Given the description of an element on the screen output the (x, y) to click on. 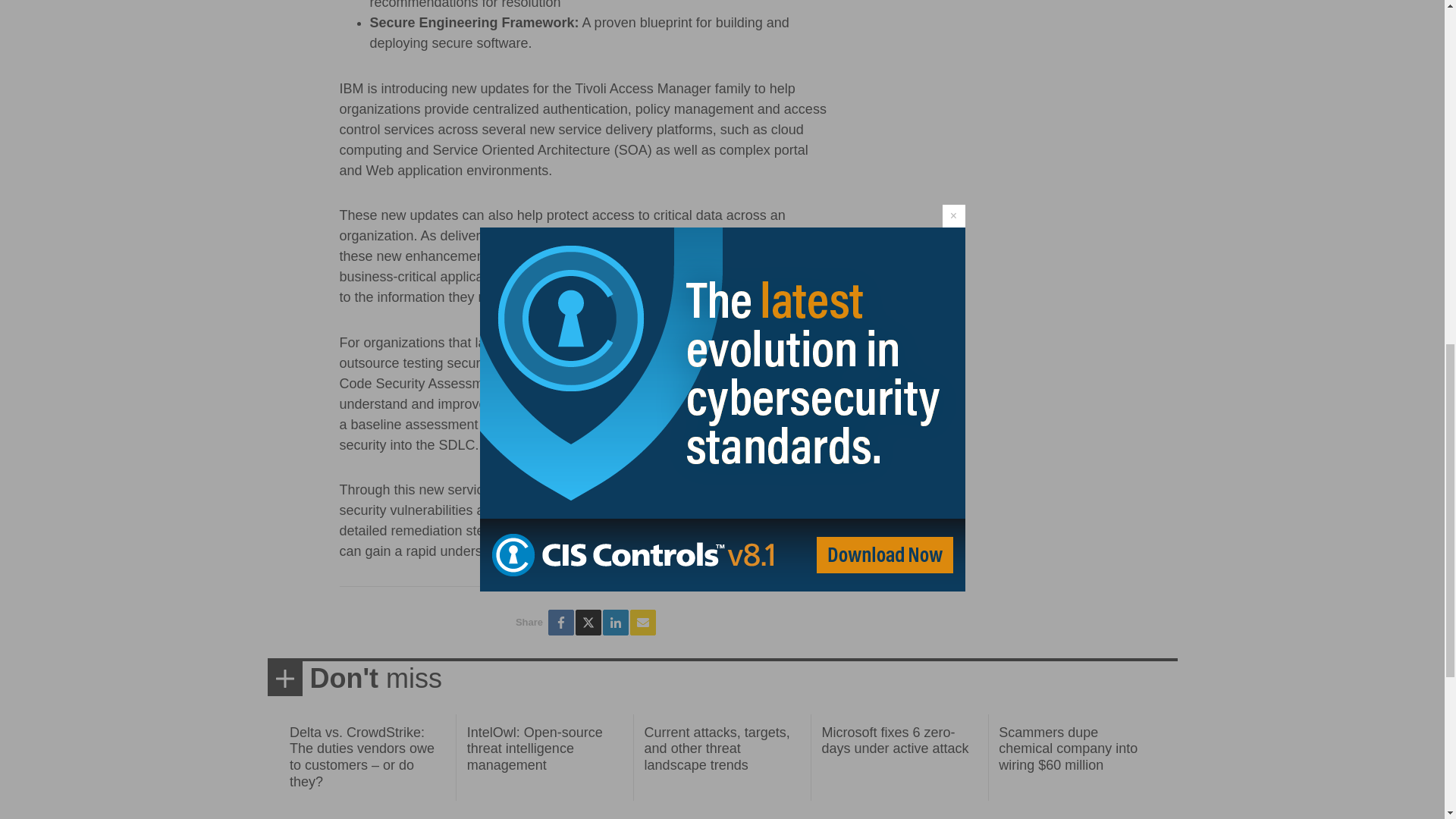
Share IBM launches new security solutions via E-mail (643, 622)
Share IBM launches new security solutions on Facebook (560, 622)
IntelOwl: Open-source threat intelligence management (534, 748)
Current attacks, targets, and other threat landscape trends (717, 748)
Microsoft fixes 6 zero-days under active attack (894, 740)
Share IBM launches new security solutions on Twitter (588, 622)
Share IBM launches new security solutions on LinkedIn (615, 622)
